Given the description of an element on the screen output the (x, y) to click on. 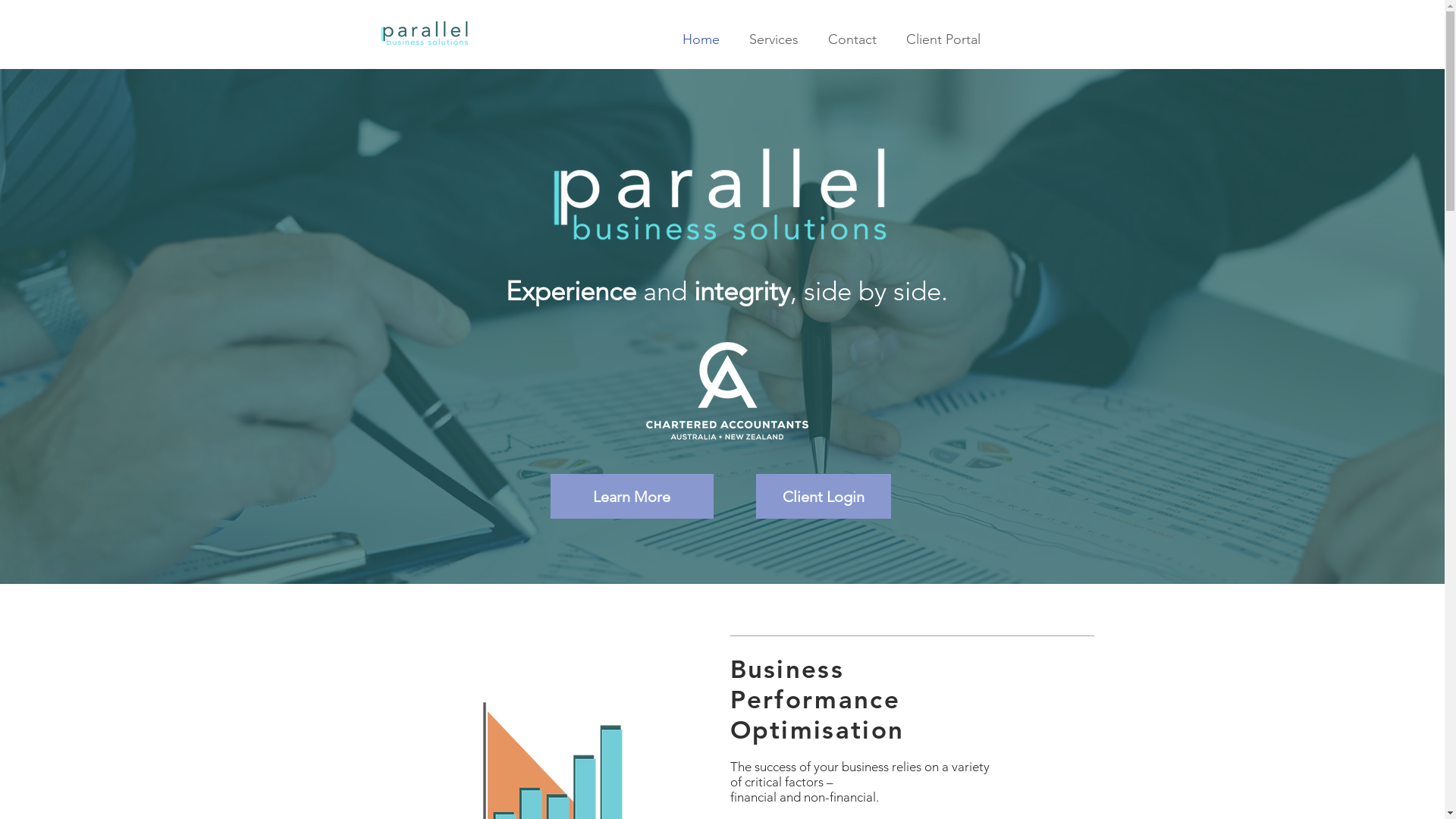
Learn More Element type: text (631, 495)
Client Portal Element type: text (942, 39)
Contact Element type: text (851, 39)
Client Login Element type: text (822, 495)
Home Element type: text (700, 39)
